Given the description of an element on the screen output the (x, y) to click on. 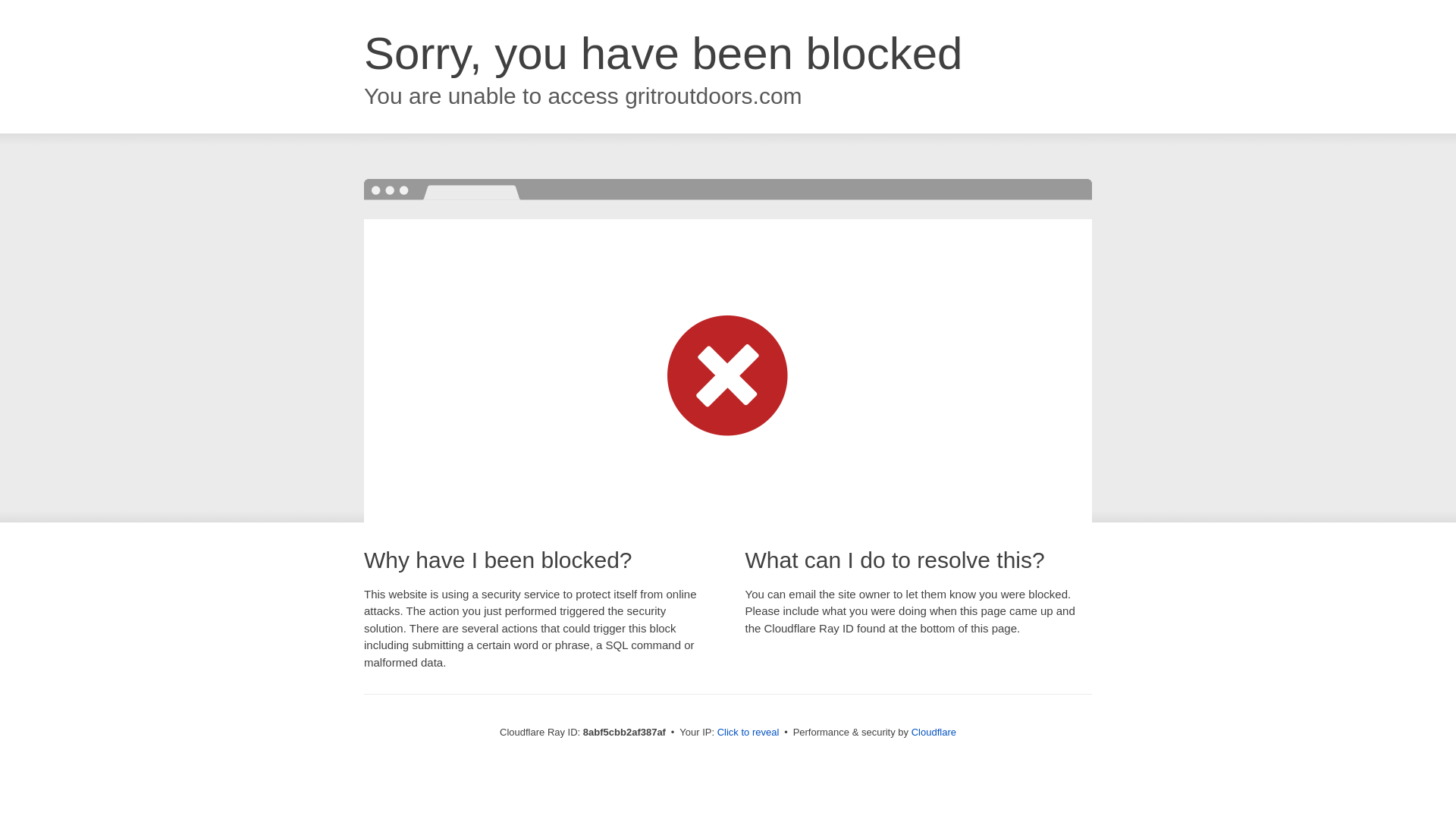
Click to reveal (747, 732)
Cloudflare (933, 731)
